Given the description of an element on the screen output the (x, y) to click on. 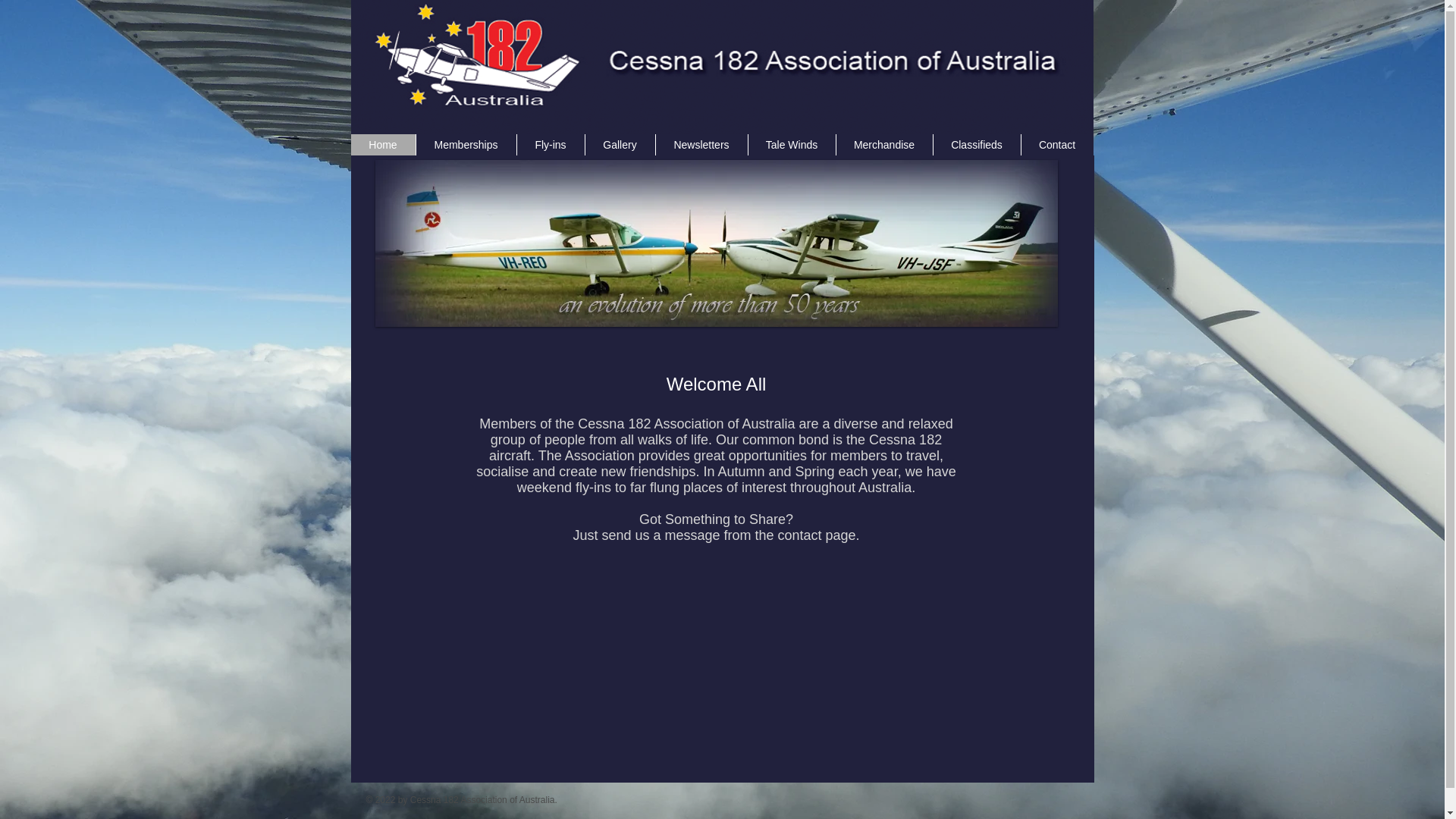
Home Element type: text (382, 144)
Merchandise Element type: text (883, 144)
Contact Element type: text (1056, 144)
Fly-ins Element type: text (549, 144)
Gallery Element type: text (618, 144)
Tale Winds Element type: text (791, 144)
Memberships Element type: text (465, 144)
Classifieds Element type: text (976, 144)
Newsletters Element type: text (701, 144)
